Given the description of an element on the screen output the (x, y) to click on. 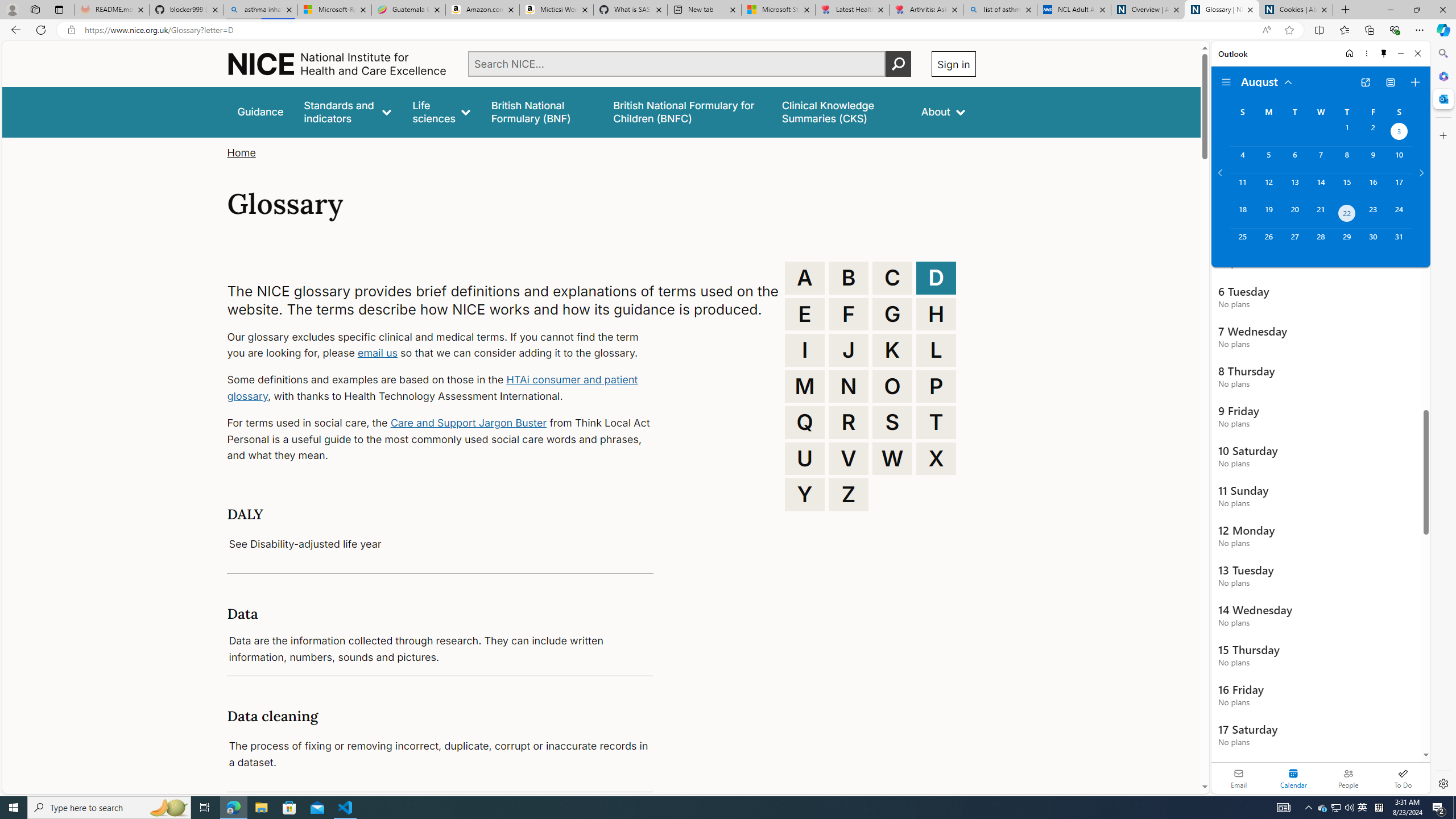
Monday, August 12, 2024.  (1268, 186)
P (935, 385)
Tab actions menu (58, 9)
L (935, 350)
Home (241, 152)
Restore (1416, 9)
DALYSee Disability-adjusted life year (440, 529)
Y (804, 494)
D (935, 277)
Settings and more (Alt+F) (1419, 29)
K (892, 350)
Care and Support Jargon Buster (468, 422)
Monday, August 19, 2024.  (1268, 214)
